Given the description of an element on the screen output the (x, y) to click on. 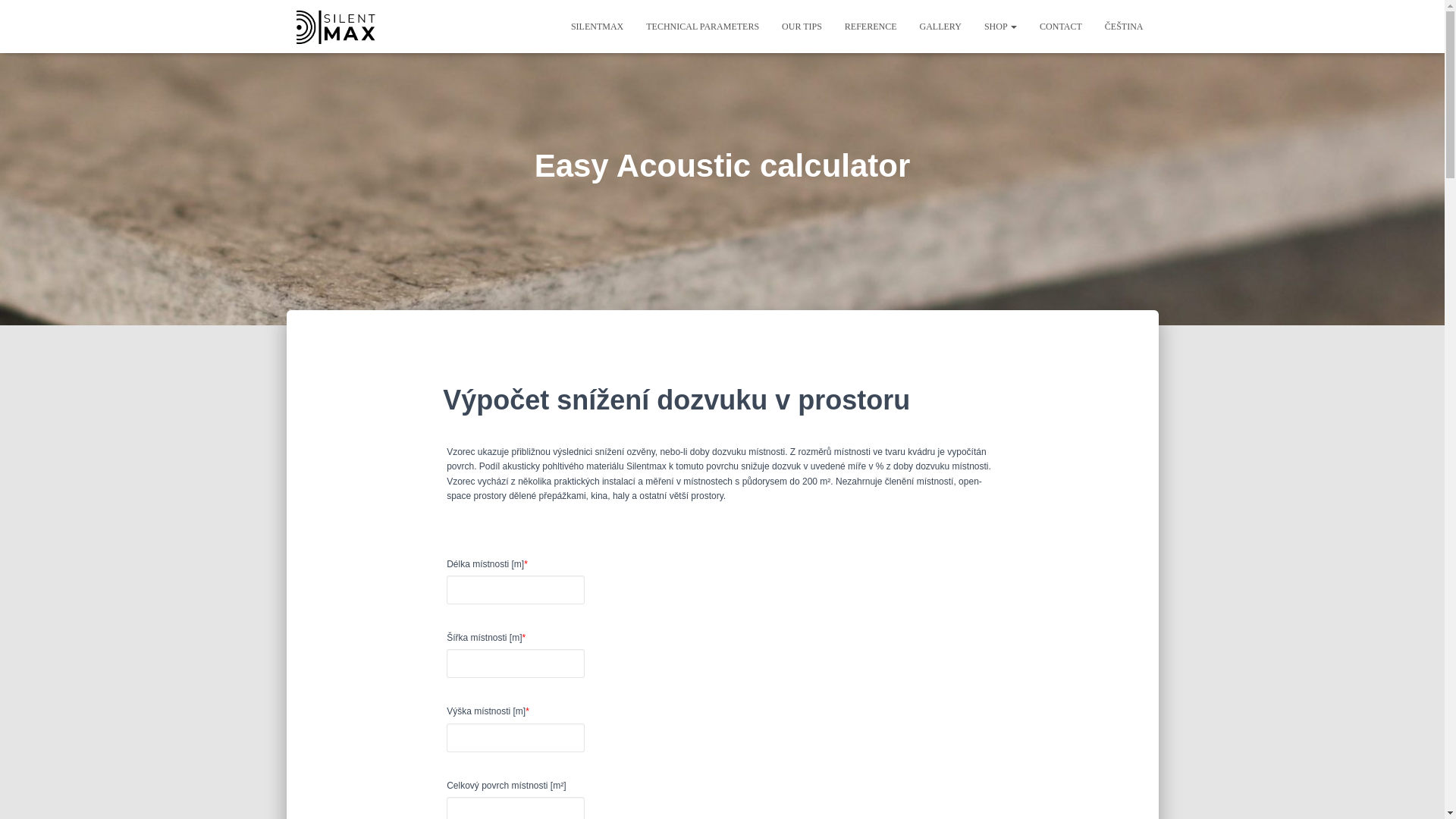
Contact (1060, 26)
Gallery (940, 26)
REFERENCE (870, 26)
Technical parameters (702, 26)
CONTACT (1060, 26)
Silentmax (596, 26)
OUR TIPS (801, 26)
Our tips (801, 26)
Shop (999, 26)
GALLERY (940, 26)
TECHNICAL PARAMETERS (702, 26)
Silentmax (333, 26)
Reference (870, 26)
SILENTMAX (596, 26)
SHOP (999, 26)
